Given the description of an element on the screen output the (x, y) to click on. 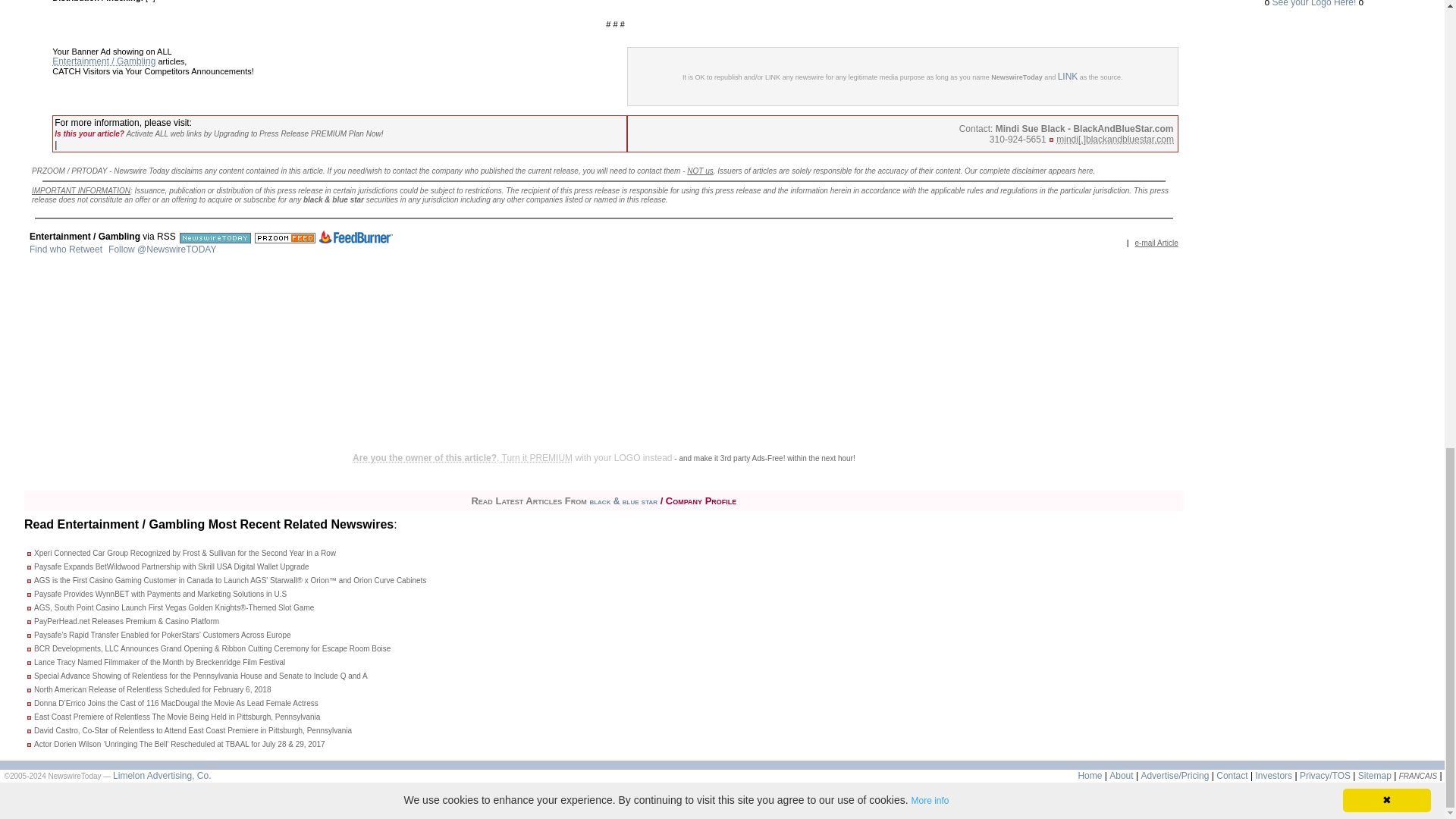
here (1085, 170)
e-mail Article (1156, 242)
LINK (1068, 76)
Find who Retweet (65, 249)
